Given the description of an element on the screen output the (x, y) to click on. 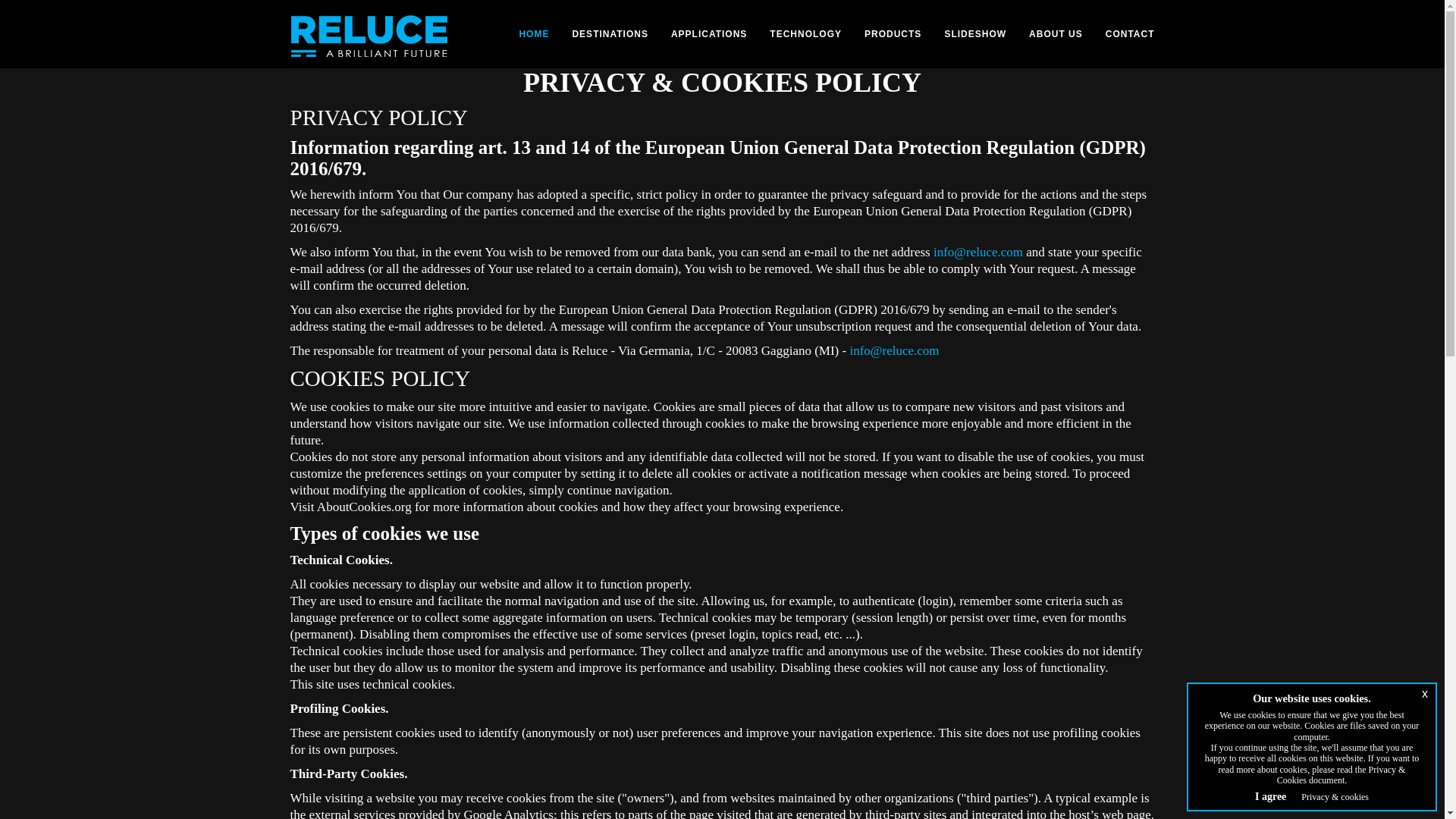
CONTACT (1130, 34)
SLIDESHOW (975, 34)
I agree (1270, 796)
PRODUCTS (893, 34)
x (1424, 693)
APPLICATIONS (708, 34)
TECHNOLOGY (805, 34)
DESTINATIONS (609, 34)
ABOUT US (1055, 34)
